Given the description of an element on the screen output the (x, y) to click on. 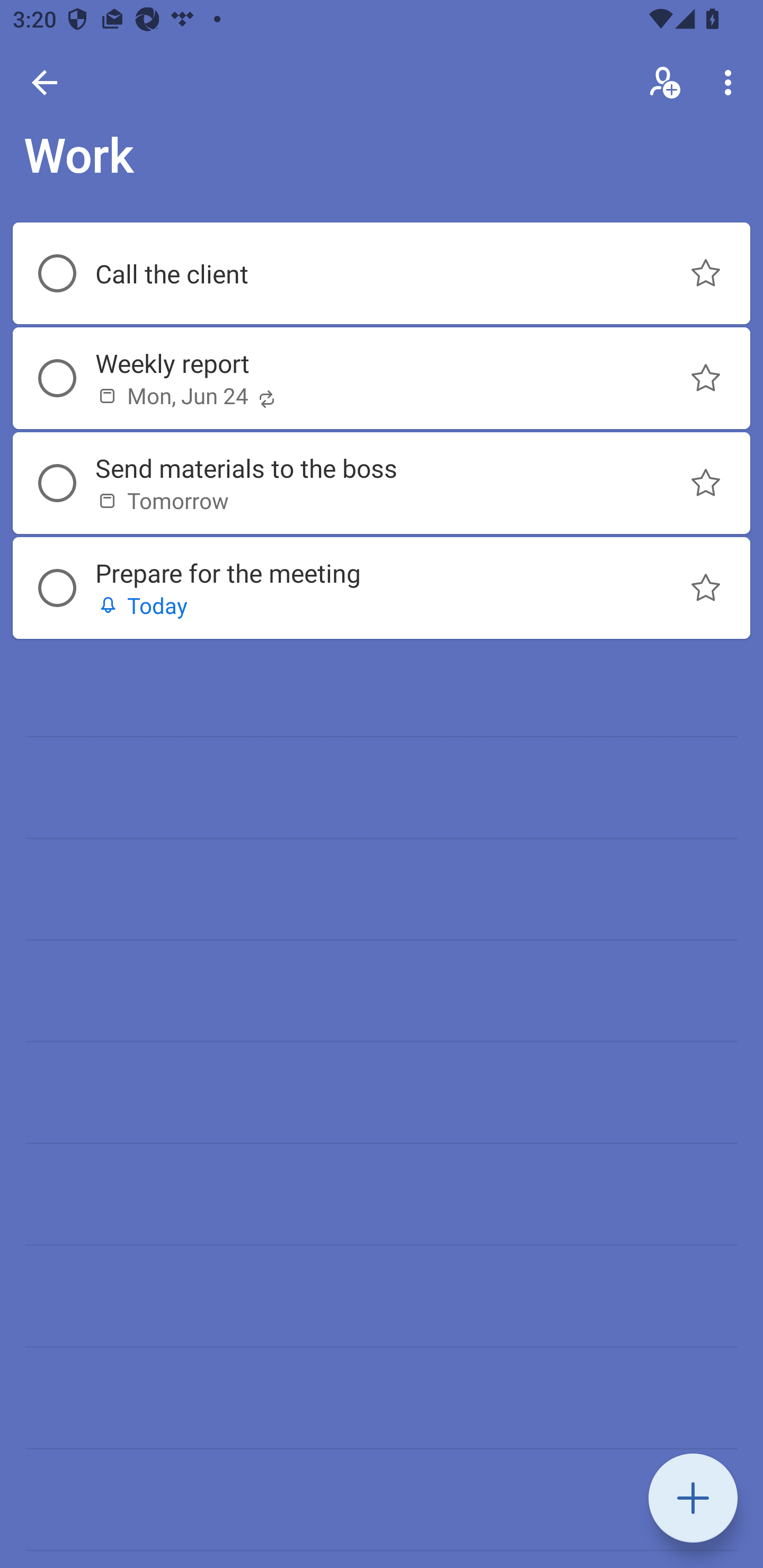
Add a task (692, 1497)
